Given the description of an element on the screen output the (x, y) to click on. 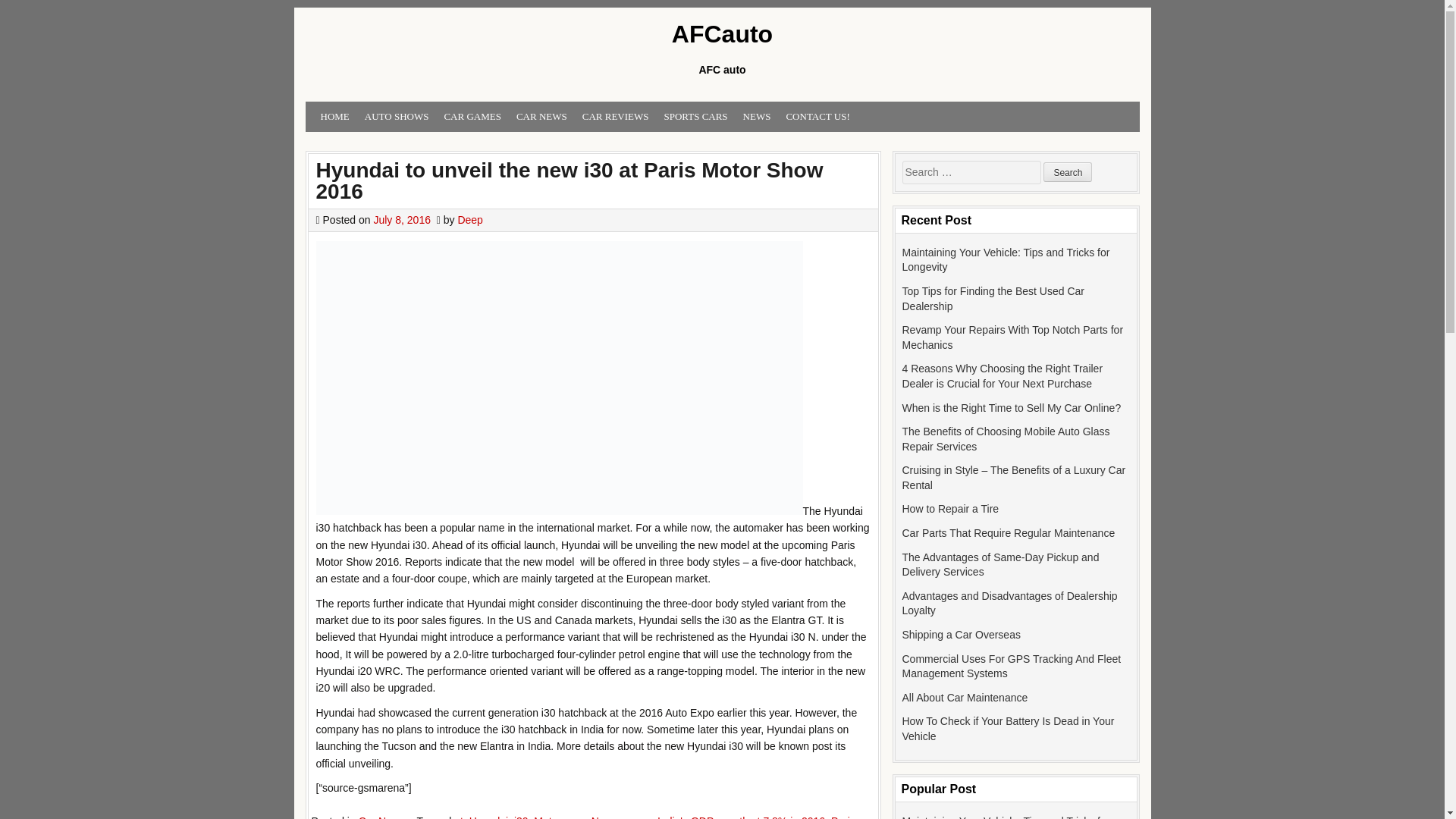
Search (1067, 171)
Deep (469, 219)
How to Repair a Tire (950, 508)
Motor (547, 816)
Revamp Your Repairs With Top Notch Parts for Mechanics (1013, 337)
Advantages and Disadvantages of Dealership Loyalty (1010, 603)
CONTACT US! (817, 116)
at (458, 816)
Car Parts That Require Regular Maintenance (1008, 532)
CAR GAMES (471, 116)
The Benefits of Choosing Mobile Auto Glass Repair Services (1005, 438)
SPORTS CARS (695, 116)
AUTO SHOWS (396, 116)
new (575, 816)
